Given the description of an element on the screen output the (x, y) to click on. 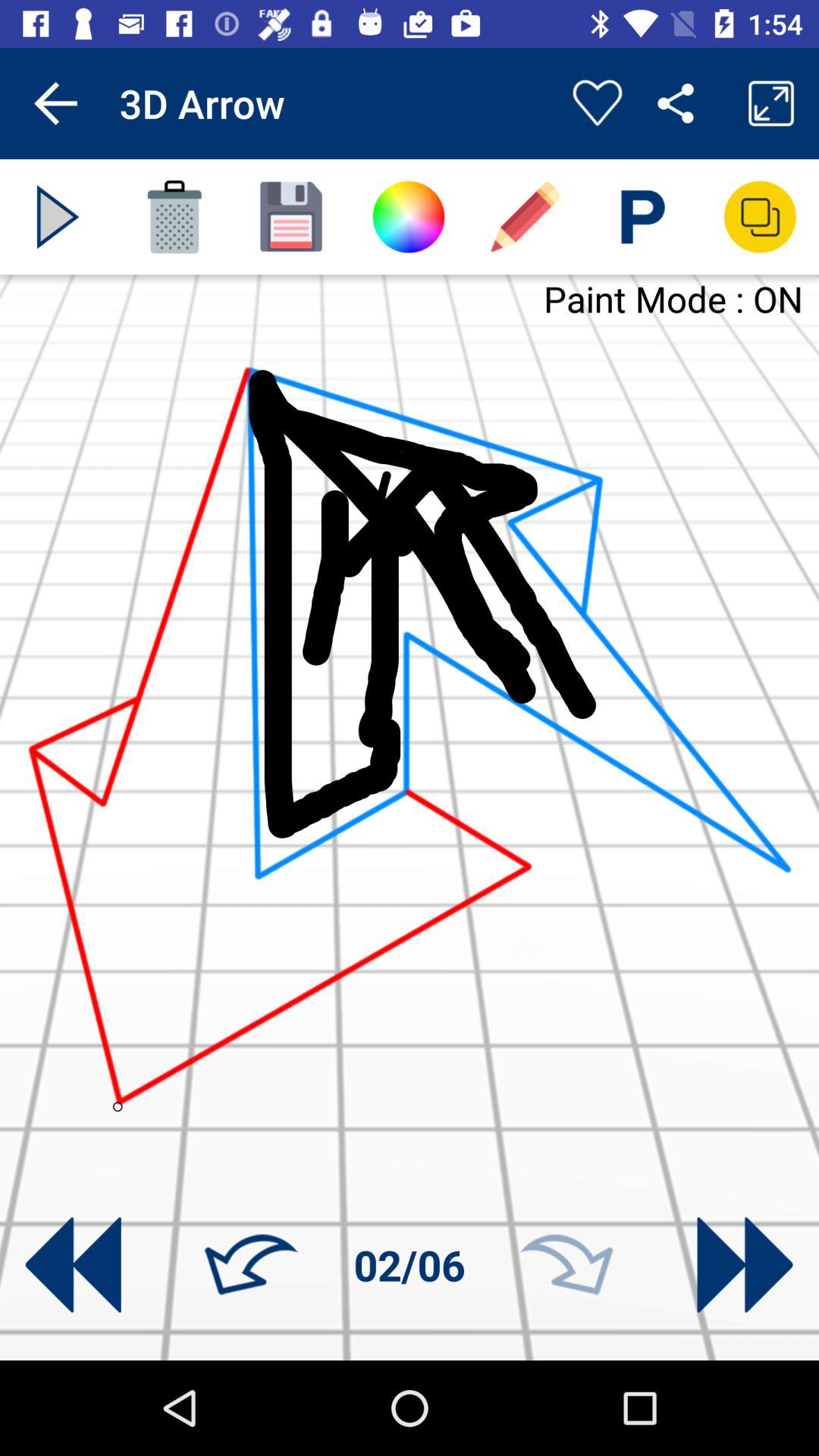
go to previous (73, 1264)
